Given the description of an element on the screen output the (x, y) to click on. 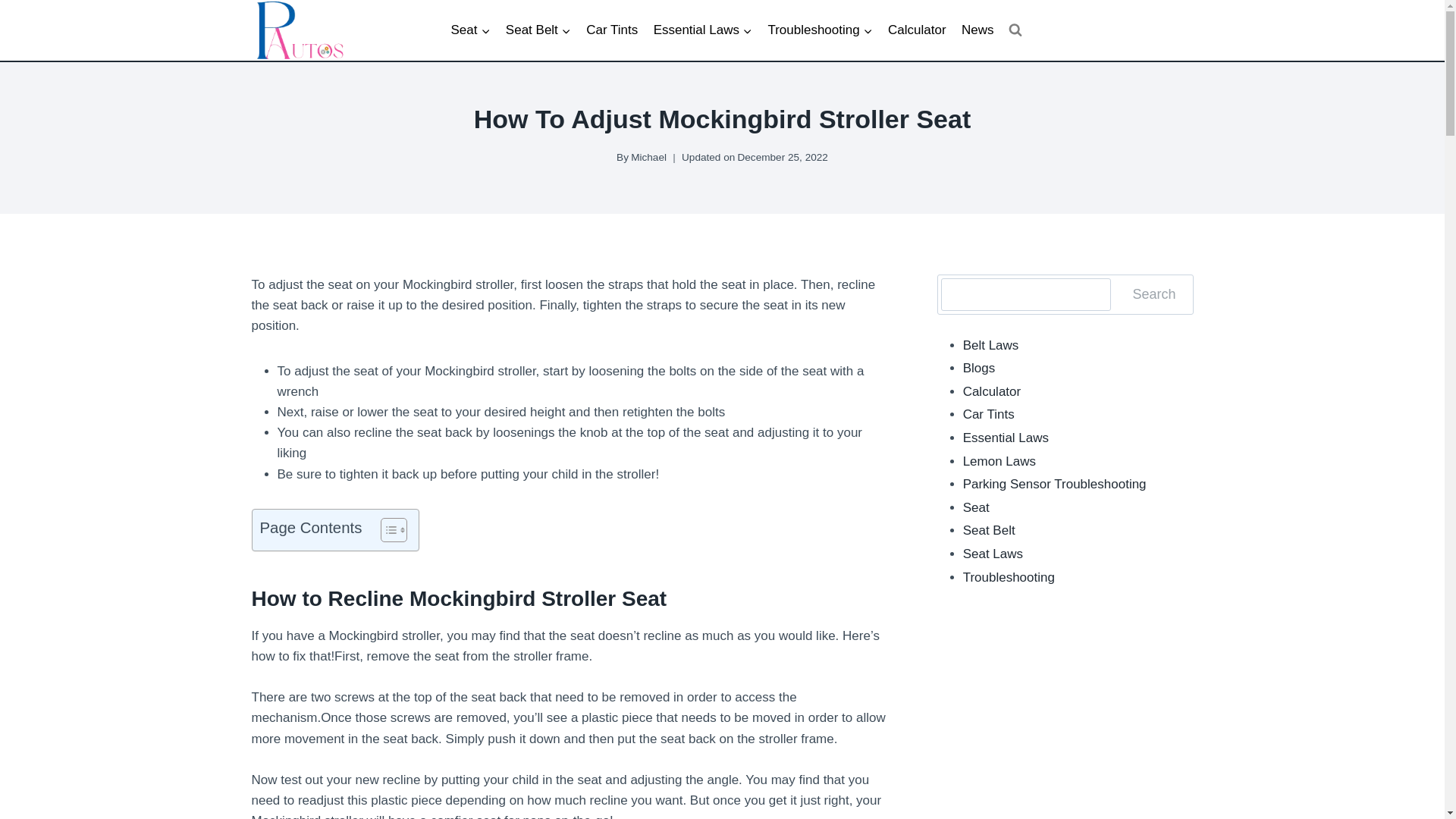
Seat Belt (537, 30)
Michael (648, 156)
Car Tints (611, 30)
Seat (469, 30)
Troubleshooting (820, 30)
News (977, 30)
Calculator (916, 30)
Essential Laws (702, 30)
